Given the description of an element on the screen output the (x, y) to click on. 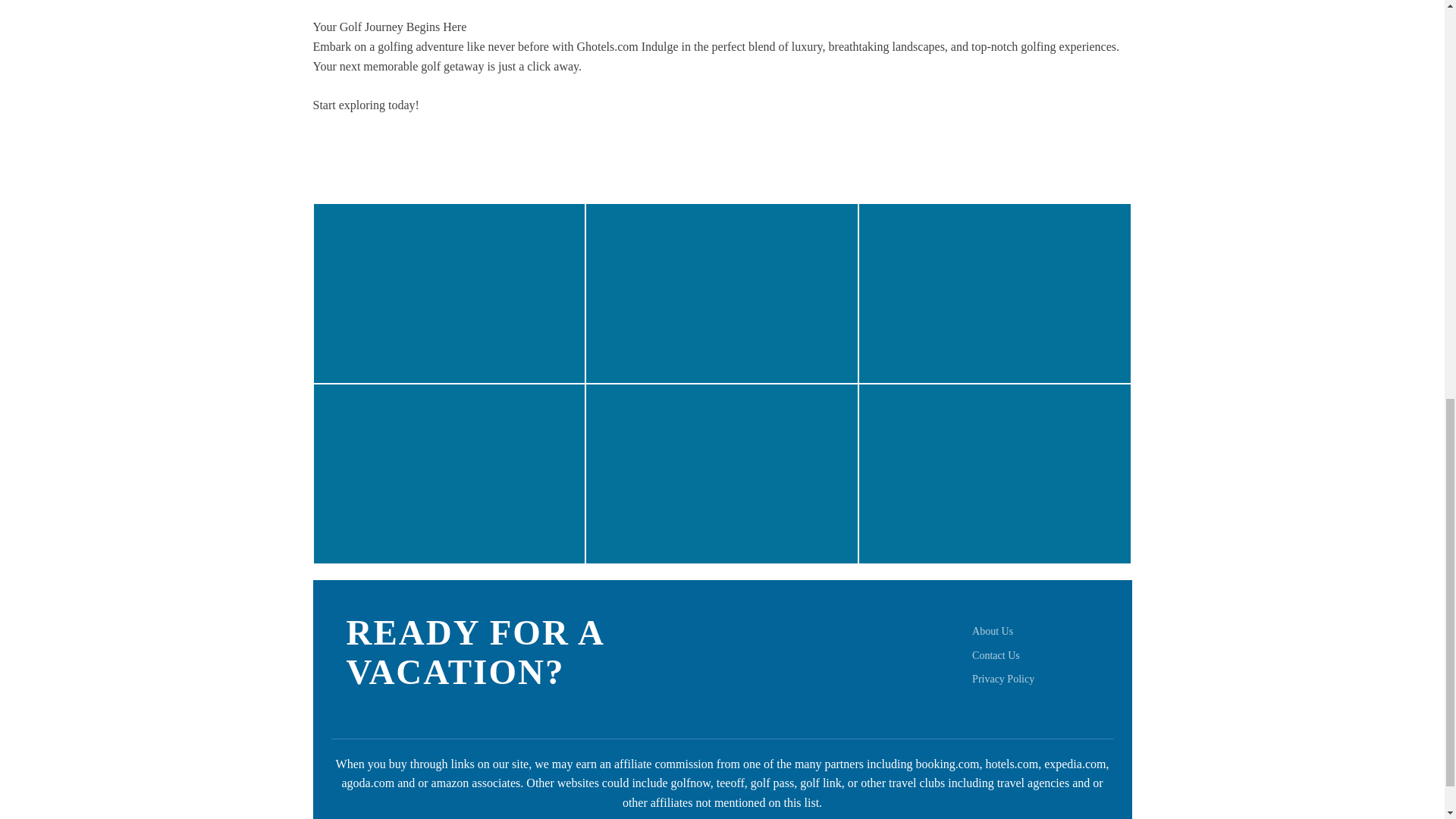
Privacy Policy (1002, 678)
About Us (992, 631)
Contact Us (996, 655)
